Given the description of an element on the screen output the (x, y) to click on. 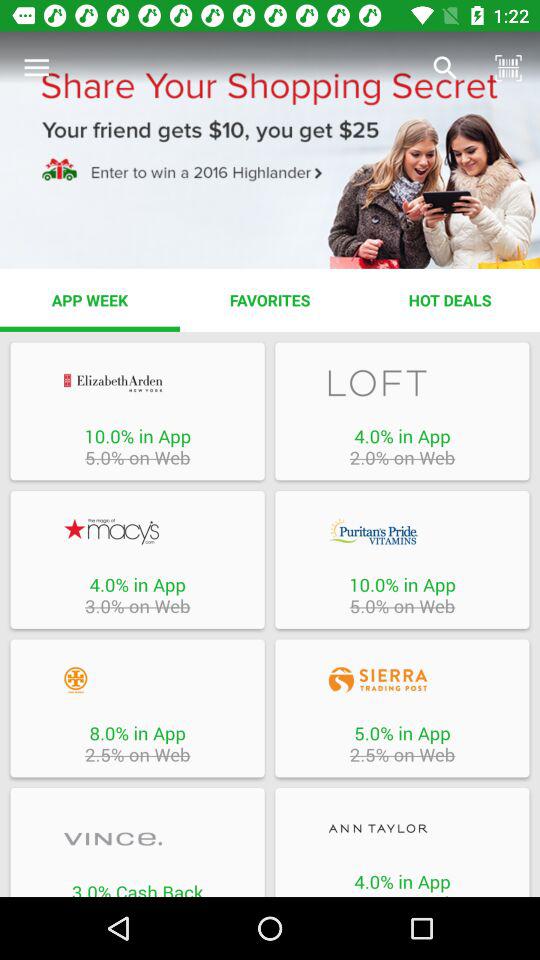
view app page (137, 679)
